Given the description of an element on the screen output the (x, y) to click on. 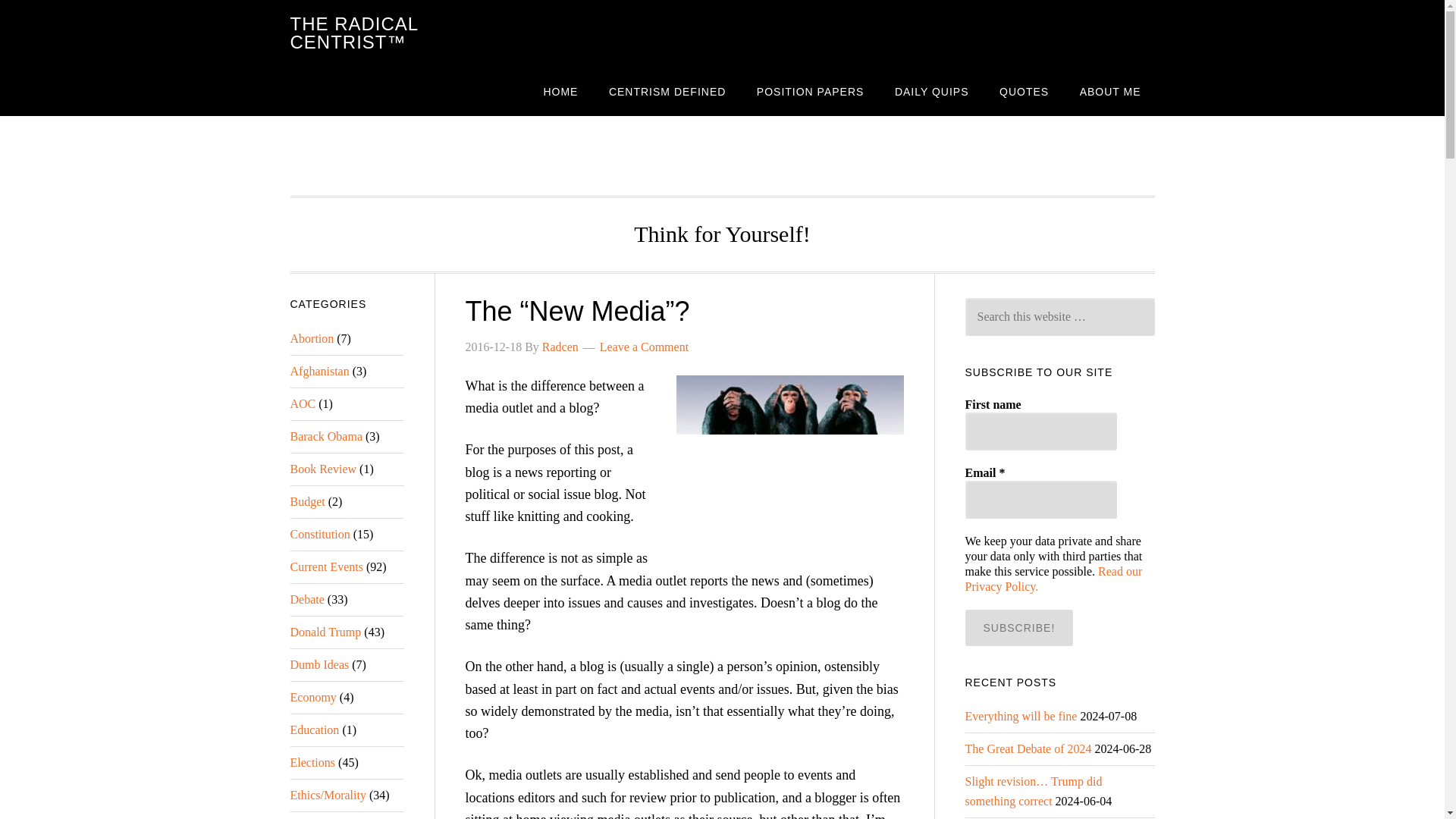
Read our Privacy Policy. (1052, 578)
HOME (560, 91)
The Great Debate of 2024 (1026, 748)
Leave a Comment (643, 346)
Subscribe! (1018, 627)
First name (1039, 431)
Everything will be fine (1020, 716)
ABOUT ME (1109, 91)
